Given the description of an element on the screen output the (x, y) to click on. 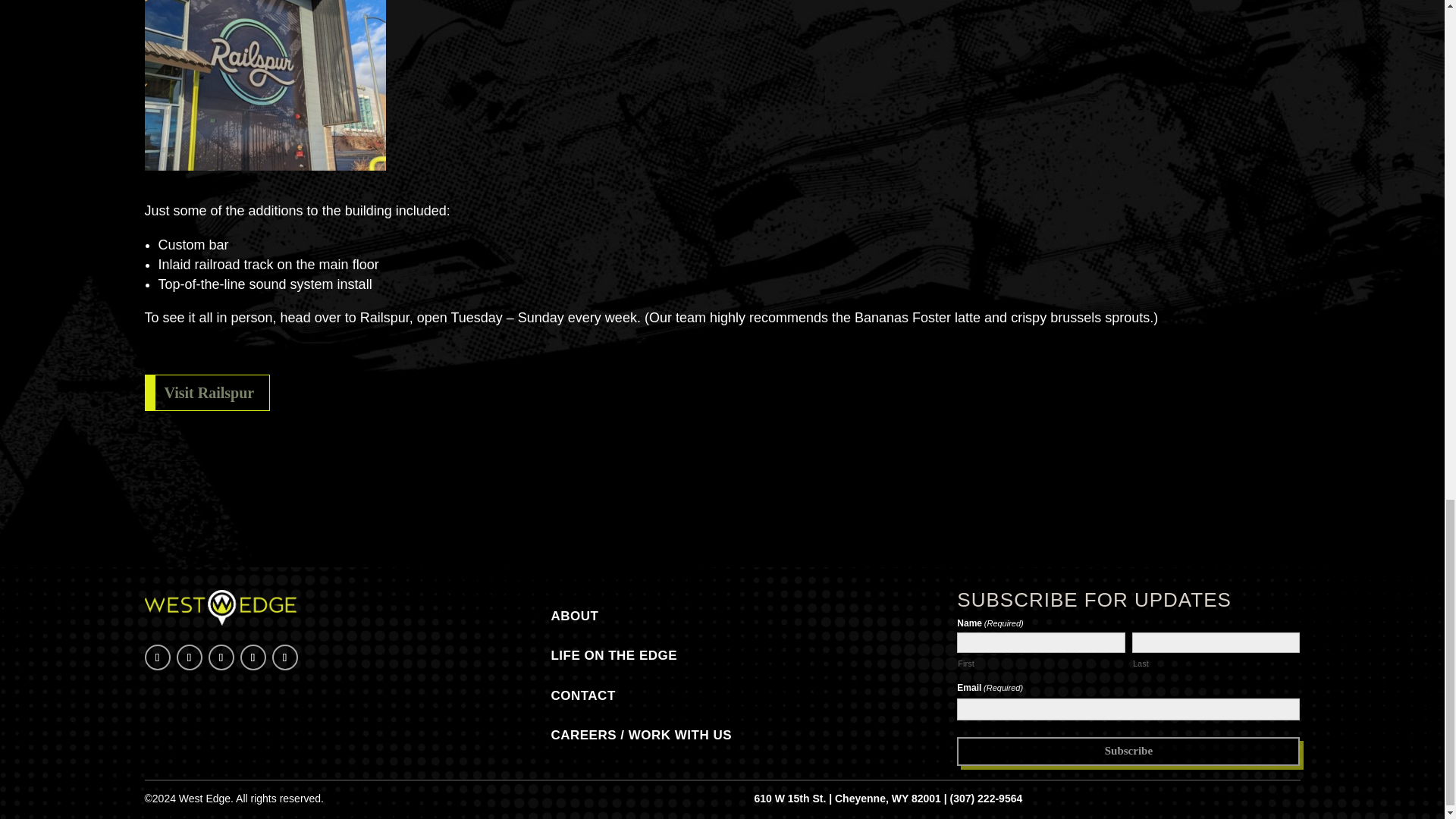
Follow on Instagram (189, 657)
Visit Railspur (206, 392)
Follow on LinkedIn (220, 657)
Subscribe (1128, 751)
Follow on Facebook (157, 657)
Subscribe (1128, 751)
